Given the description of an element on the screen output the (x, y) to click on. 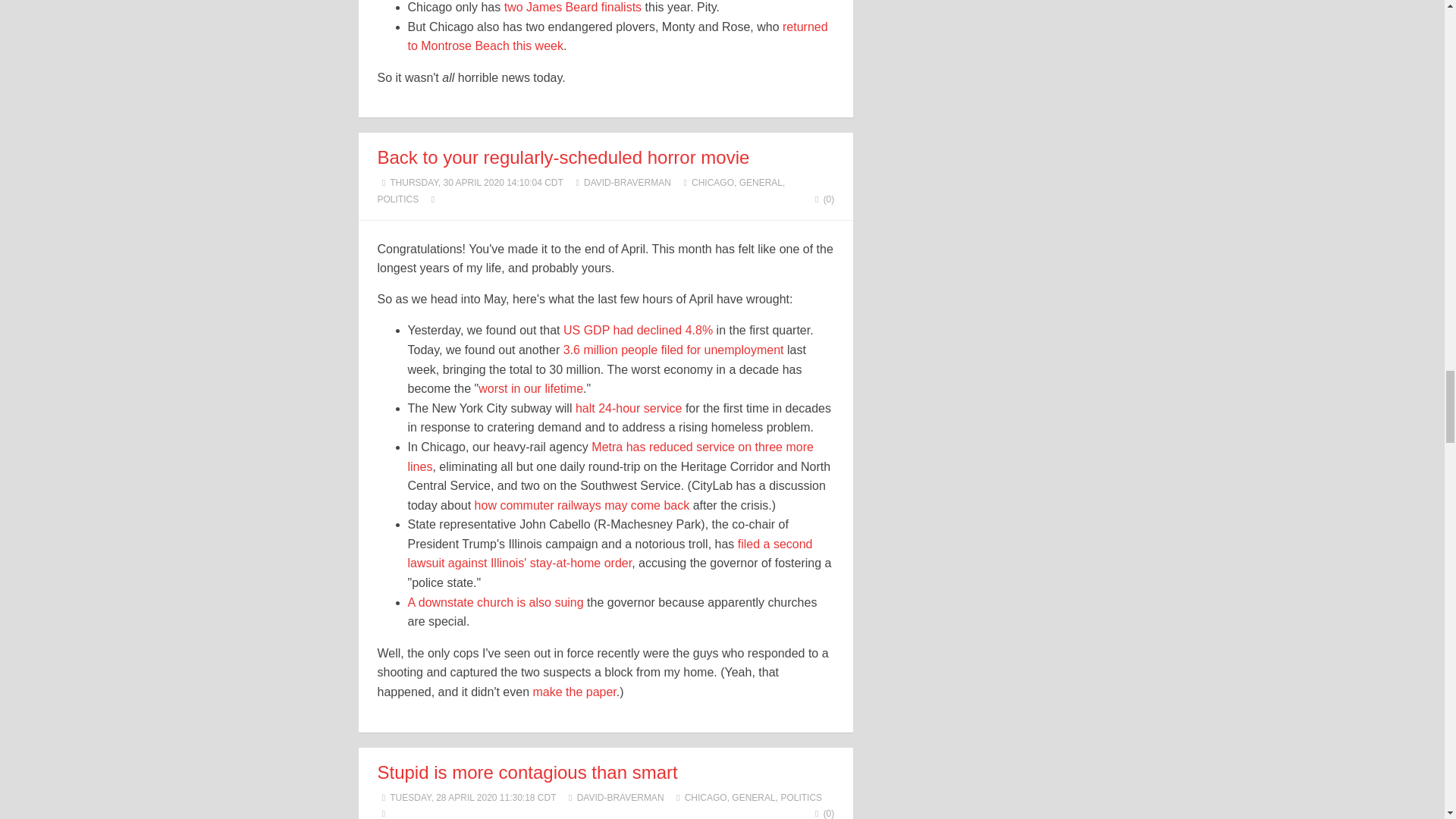
Open a map of the location where this post was written (432, 199)
Open a map of the location where this post was written (383, 813)
